Given the description of an element on the screen output the (x, y) to click on. 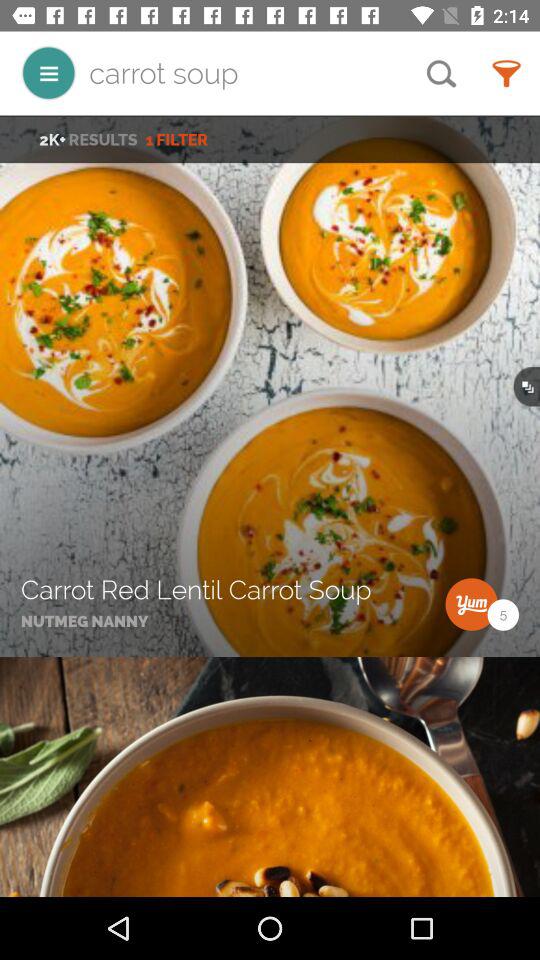
choose item to the left of the carrot soup (48, 72)
